Given the description of an element on the screen output the (x, y) to click on. 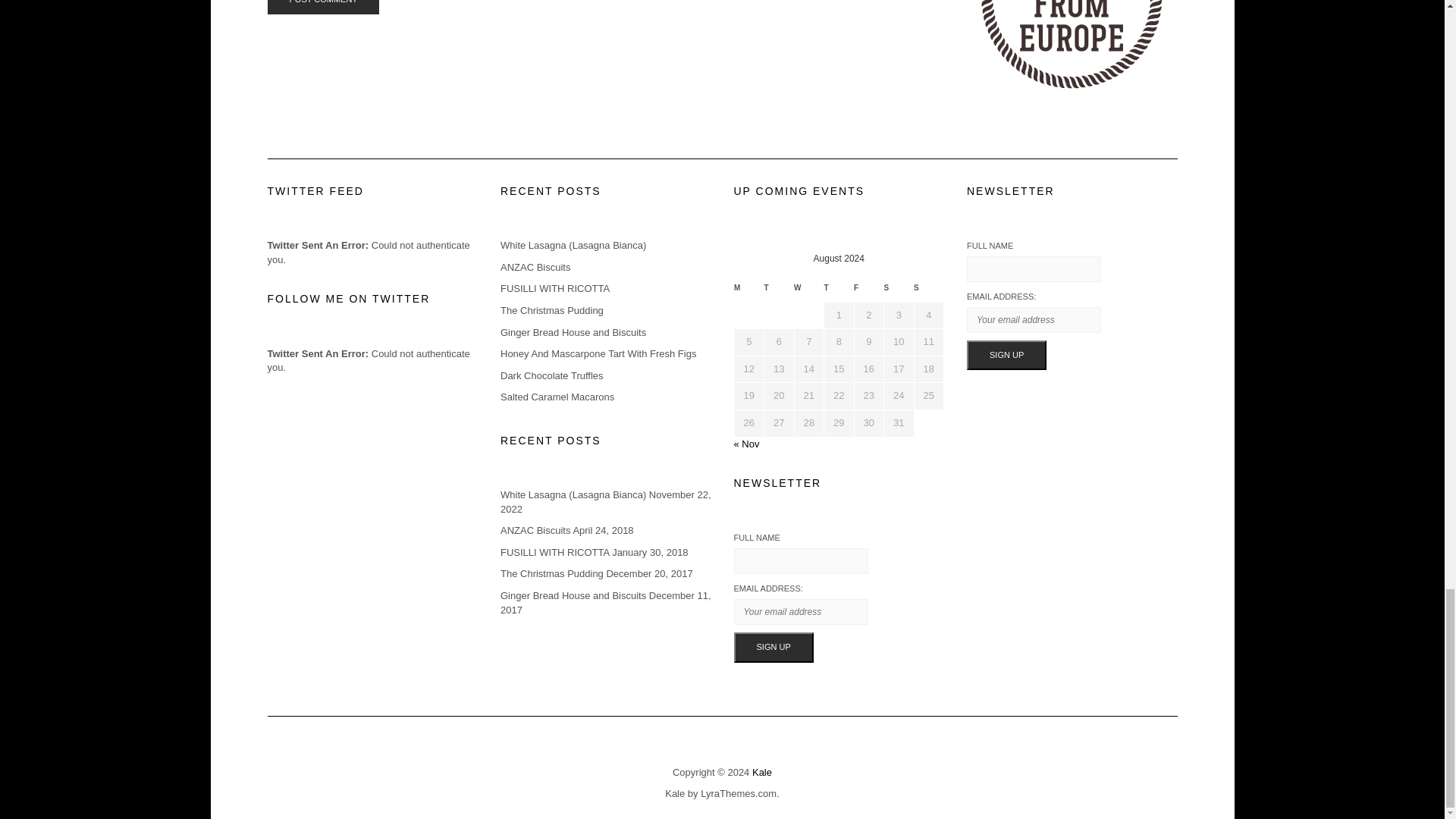
Post Comment (322, 7)
Sign up (1006, 355)
Sign up (773, 647)
Post Comment (322, 7)
